Given the description of an element on the screen output the (x, y) to click on. 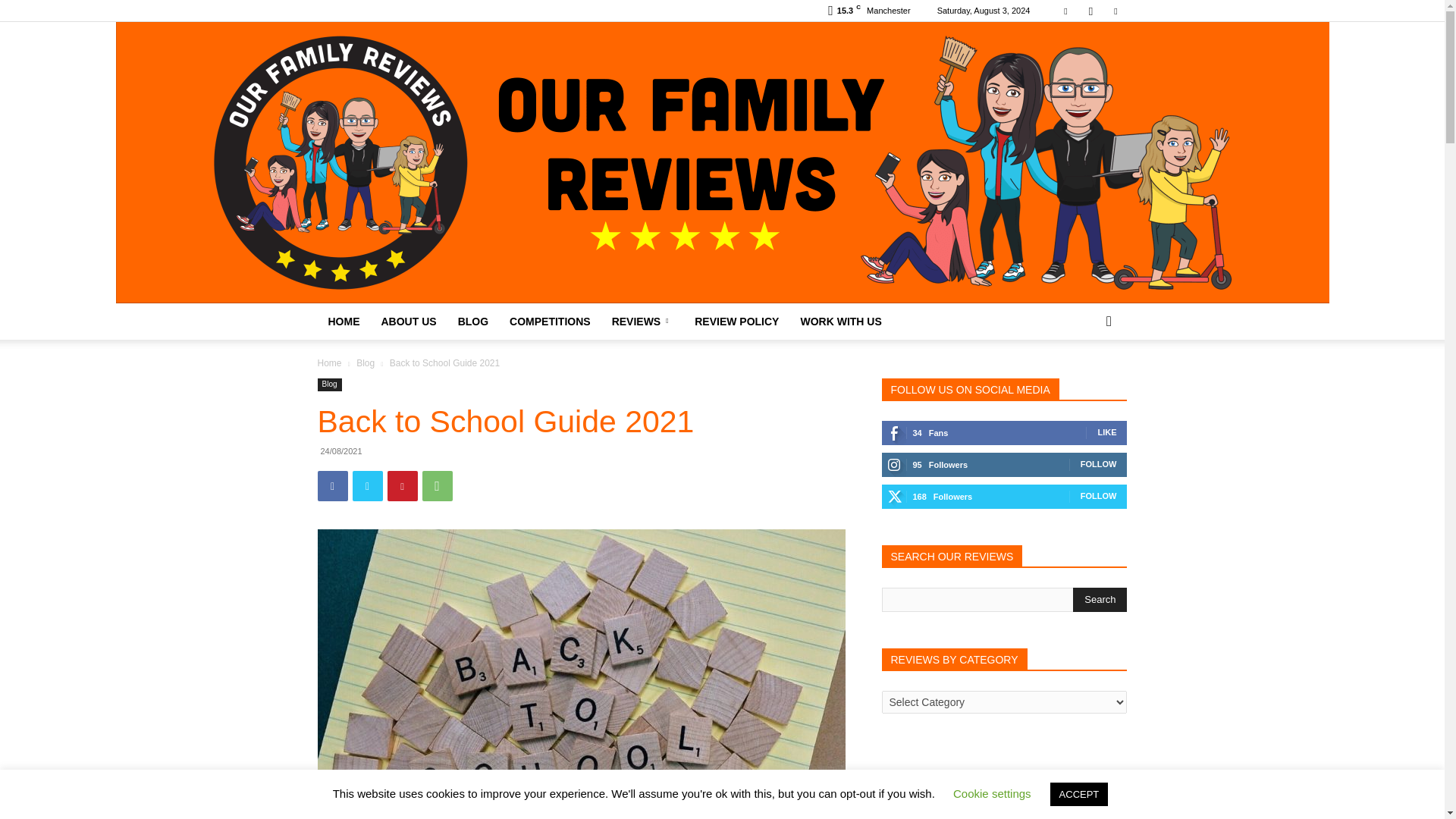
Instagram (1090, 10)
ABOUT US (407, 321)
Twitter (366, 485)
Facebook (332, 485)
HOME (343, 321)
Search (1099, 599)
COMPETITIONS (550, 321)
BLOG (472, 321)
View all posts in Blog (365, 362)
Twitter (1114, 10)
Facebook (1065, 10)
